Given the description of an element on the screen output the (x, y) to click on. 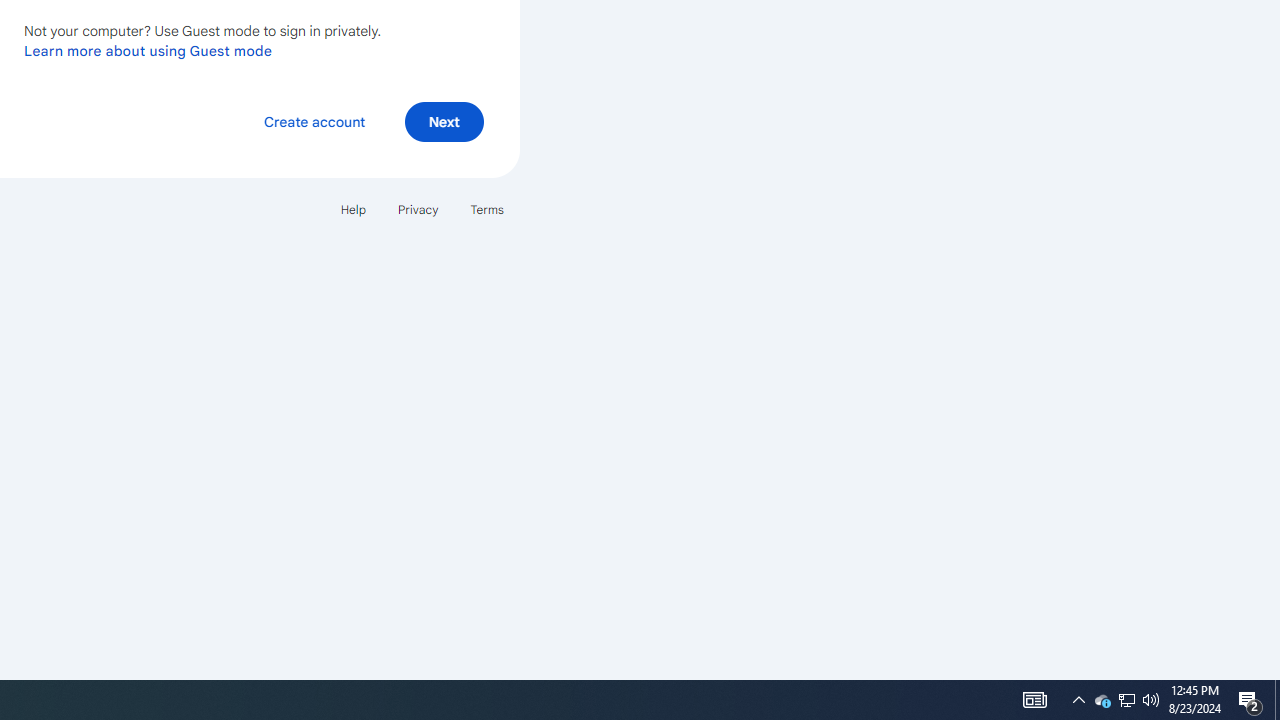
Learn more about using Guest mode (148, 51)
Privacy (417, 209)
Terms (486, 209)
Create account (314, 121)
Help (352, 209)
Next (443, 121)
